Given the description of an element on the screen output the (x, y) to click on. 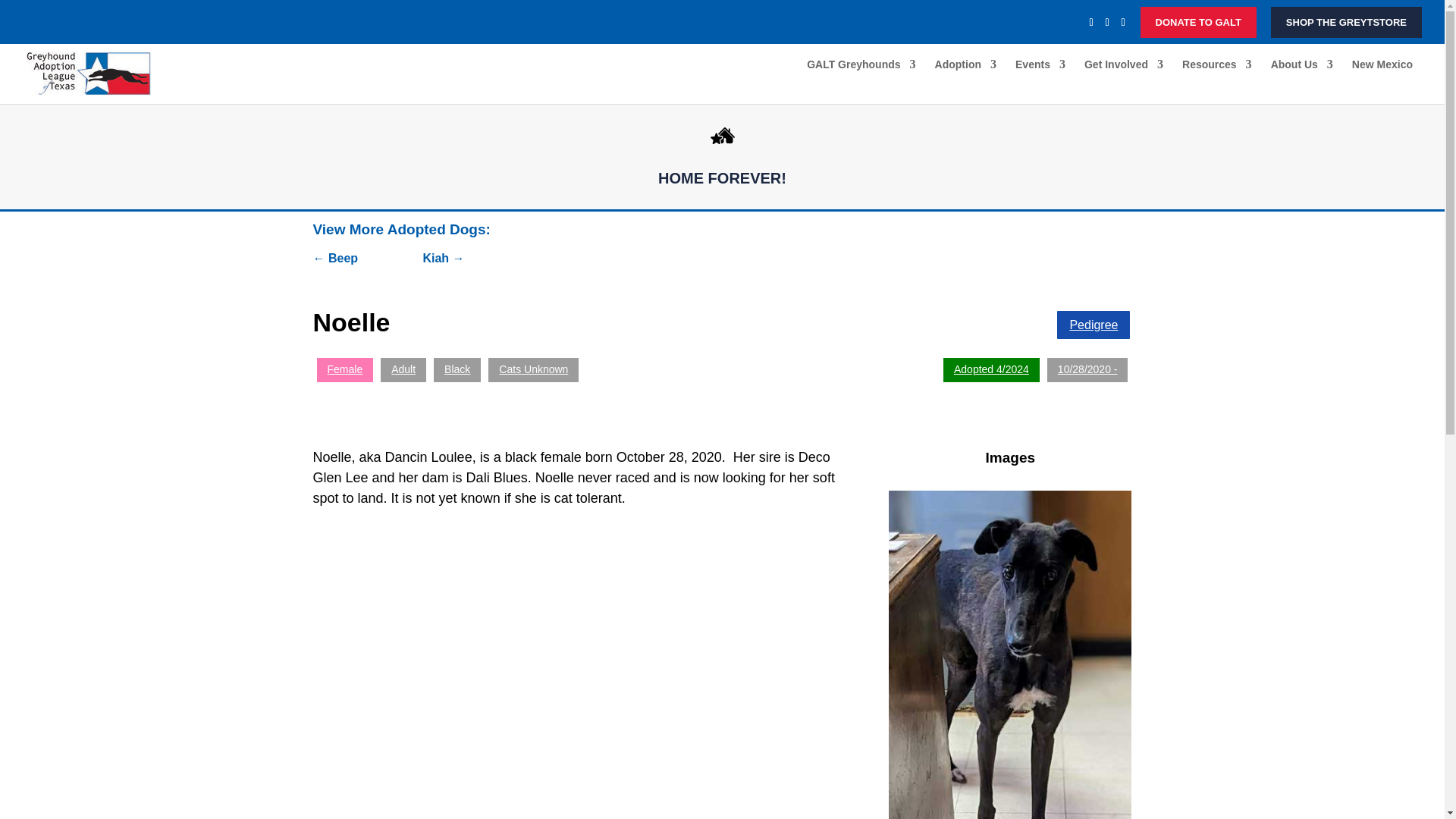
GALT Greyhounds (860, 81)
Get Involved (1123, 81)
SHOP THE GREYTSTORE (1346, 20)
Resources (1217, 81)
Events (1039, 81)
DONATE TO GALT (1198, 20)
Adoption (964, 81)
